Given the description of an element on the screen output the (x, y) to click on. 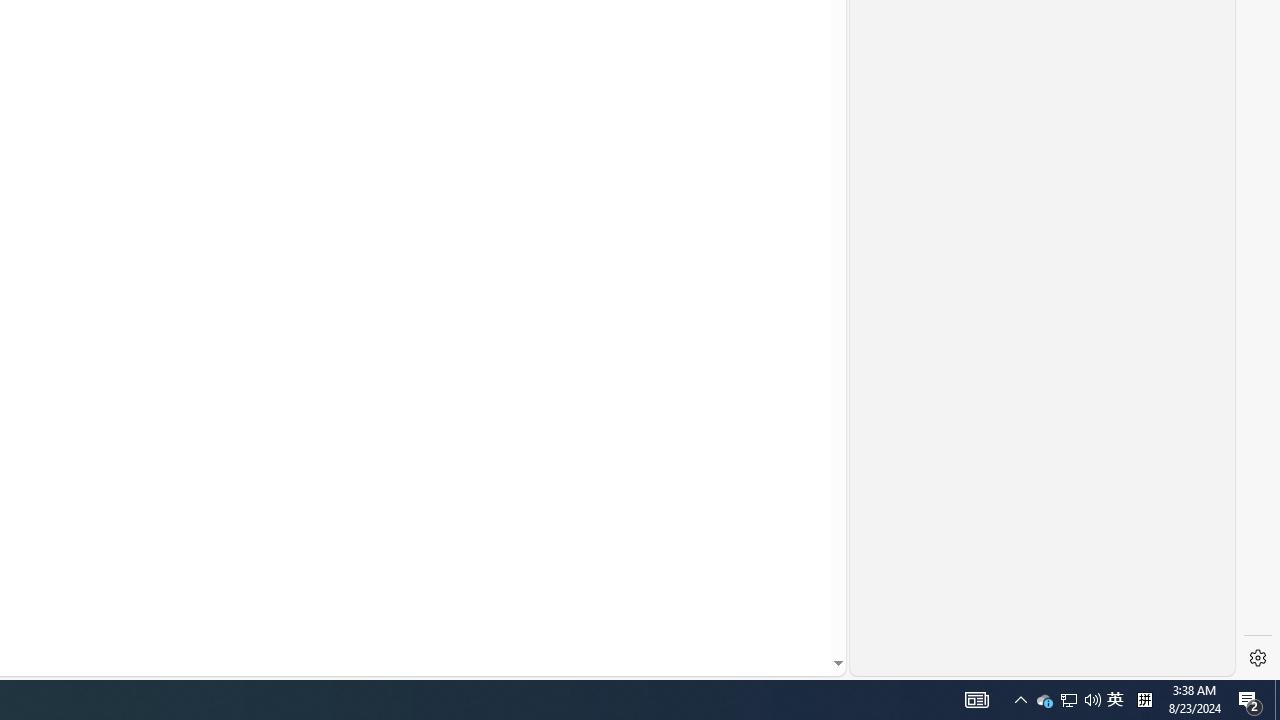
Search more (792, 604)
AutomationID: mfa_root (762, 603)
